Given the description of an element on the screen output the (x, y) to click on. 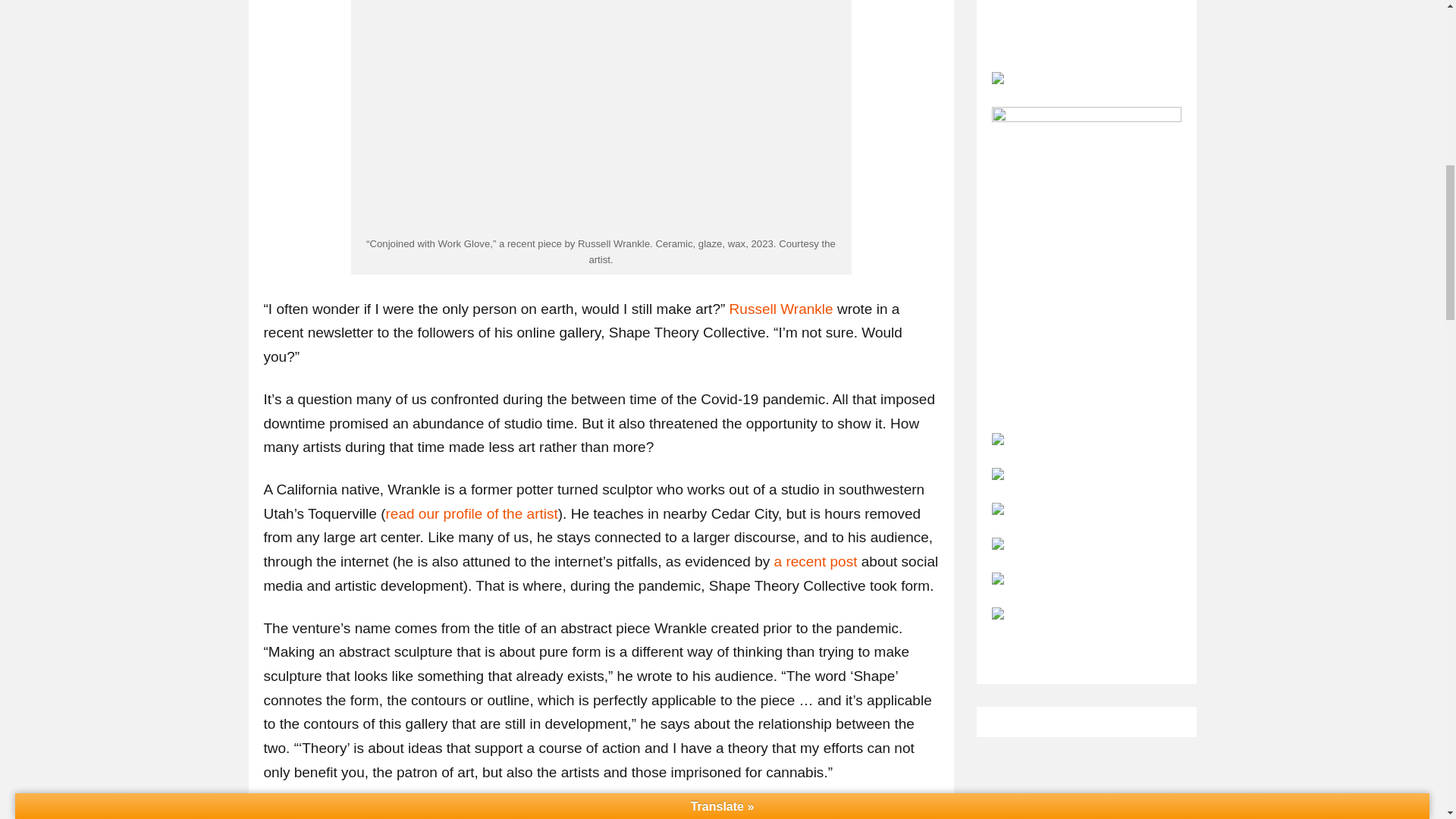
read our profile of the artist (471, 513)
Russell Wrankle (780, 308)
